Given the description of an element on the screen output the (x, y) to click on. 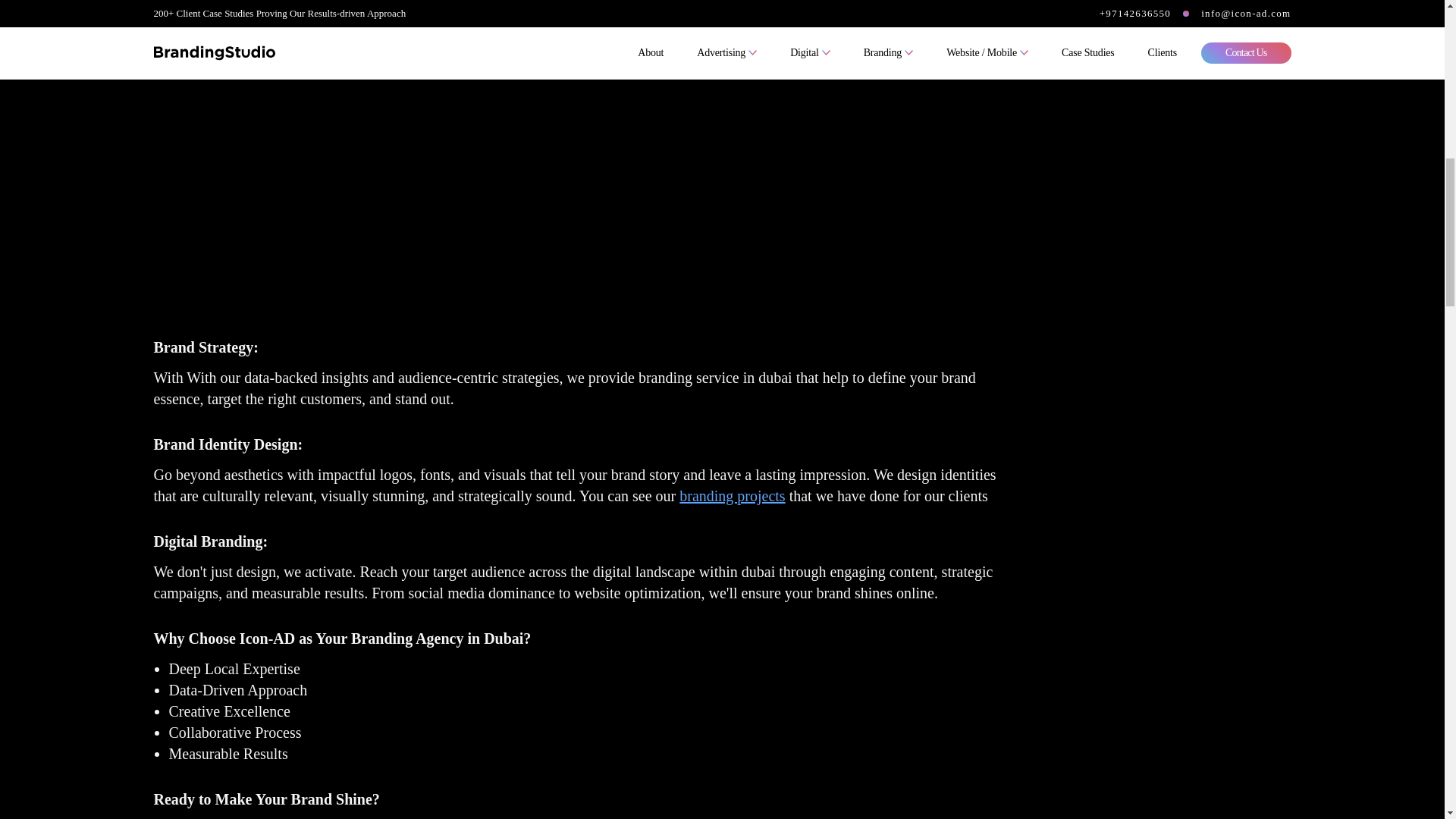
branding projects (731, 495)
